Given the description of an element on the screen output the (x, y) to click on. 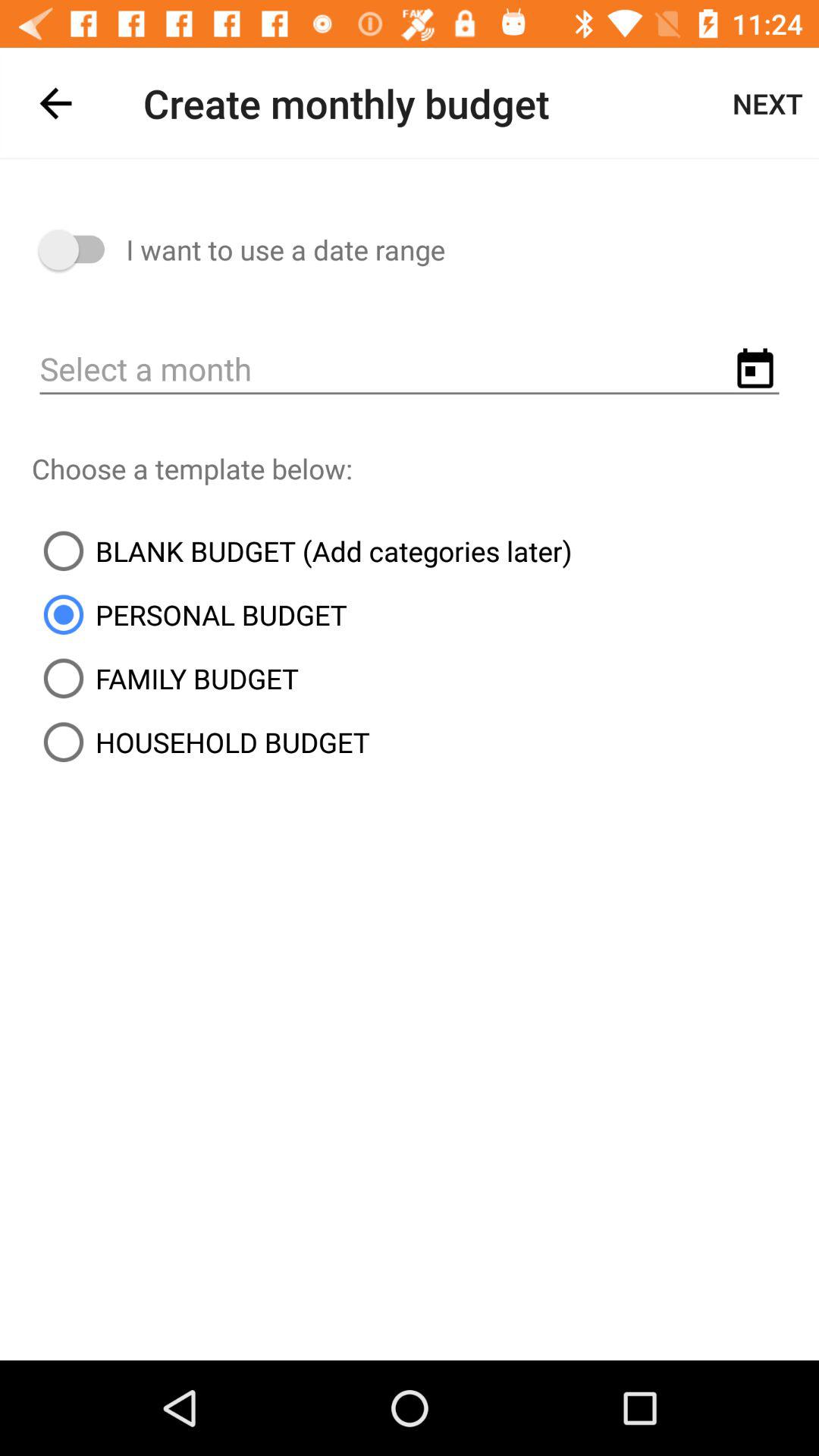
select a month (409, 370)
